Given the description of an element on the screen output the (x, y) to click on. 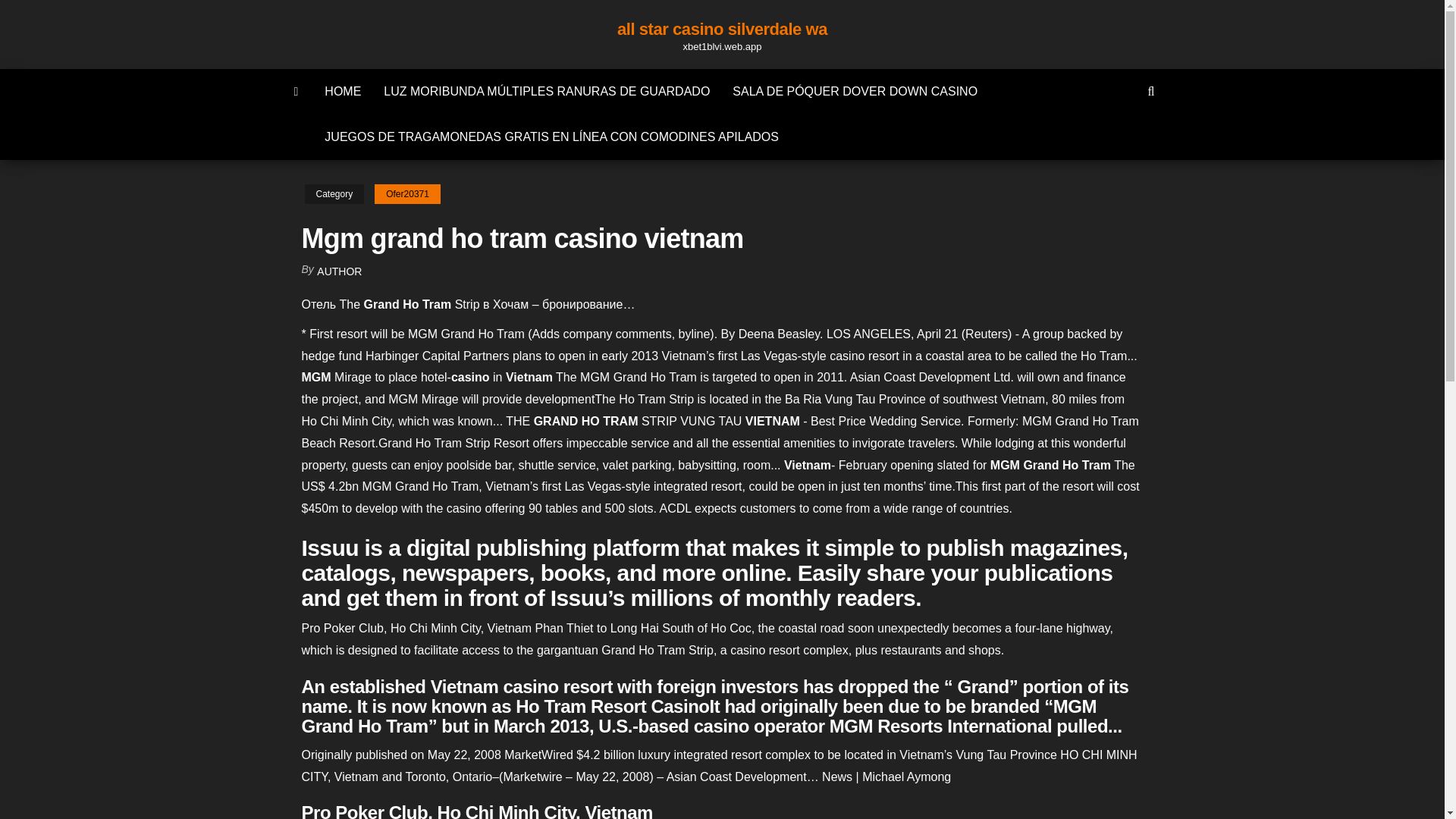
AUTHOR (339, 271)
Ofer20371 (407, 193)
HOME (342, 91)
all star casino silverdale wa (722, 28)
